Given the description of an element on the screen output the (x, y) to click on. 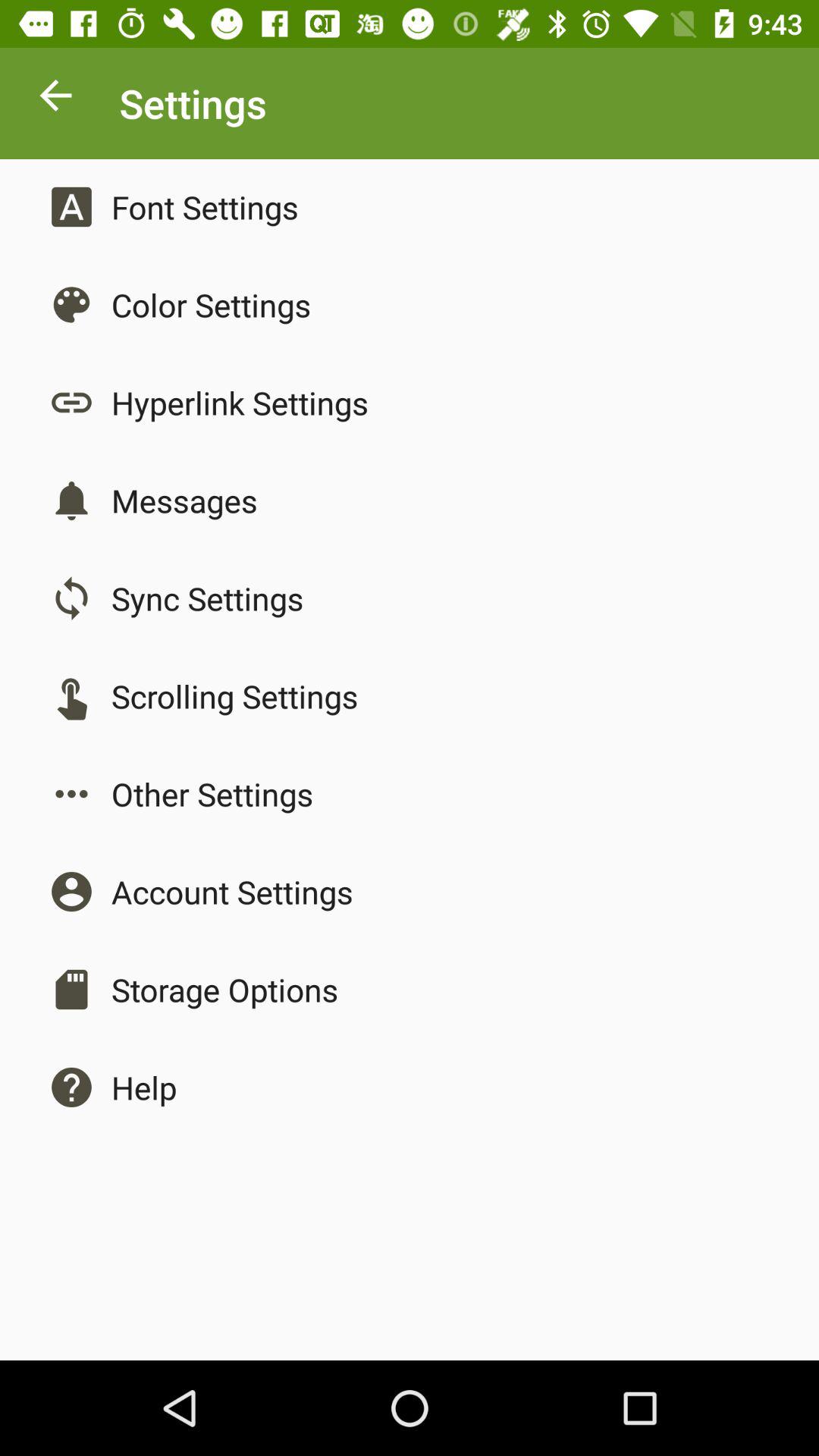
go back (55, 99)
